Given the description of an element on the screen output the (x, y) to click on. 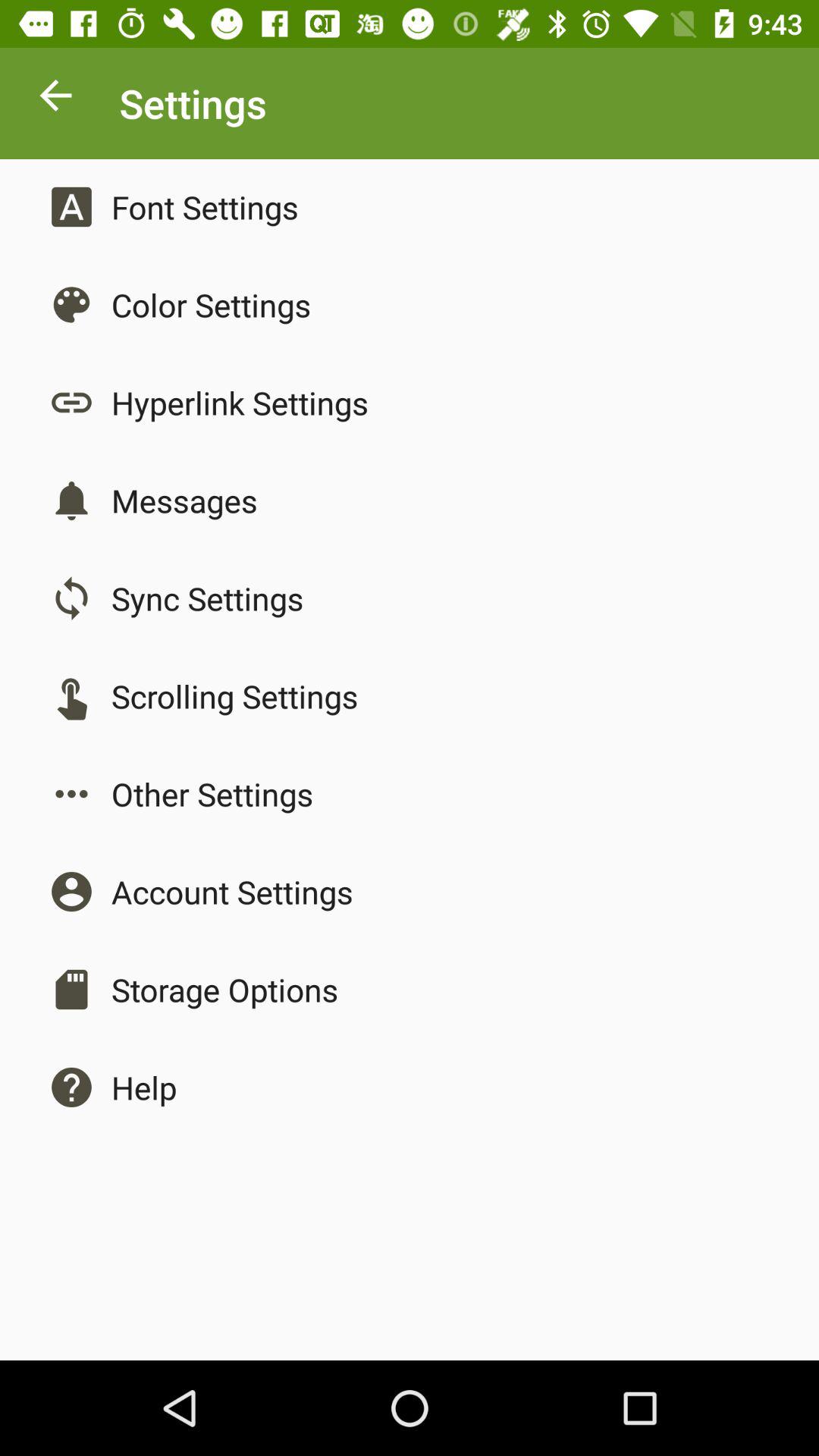
go back (55, 99)
